Given the description of an element on the screen output the (x, y) to click on. 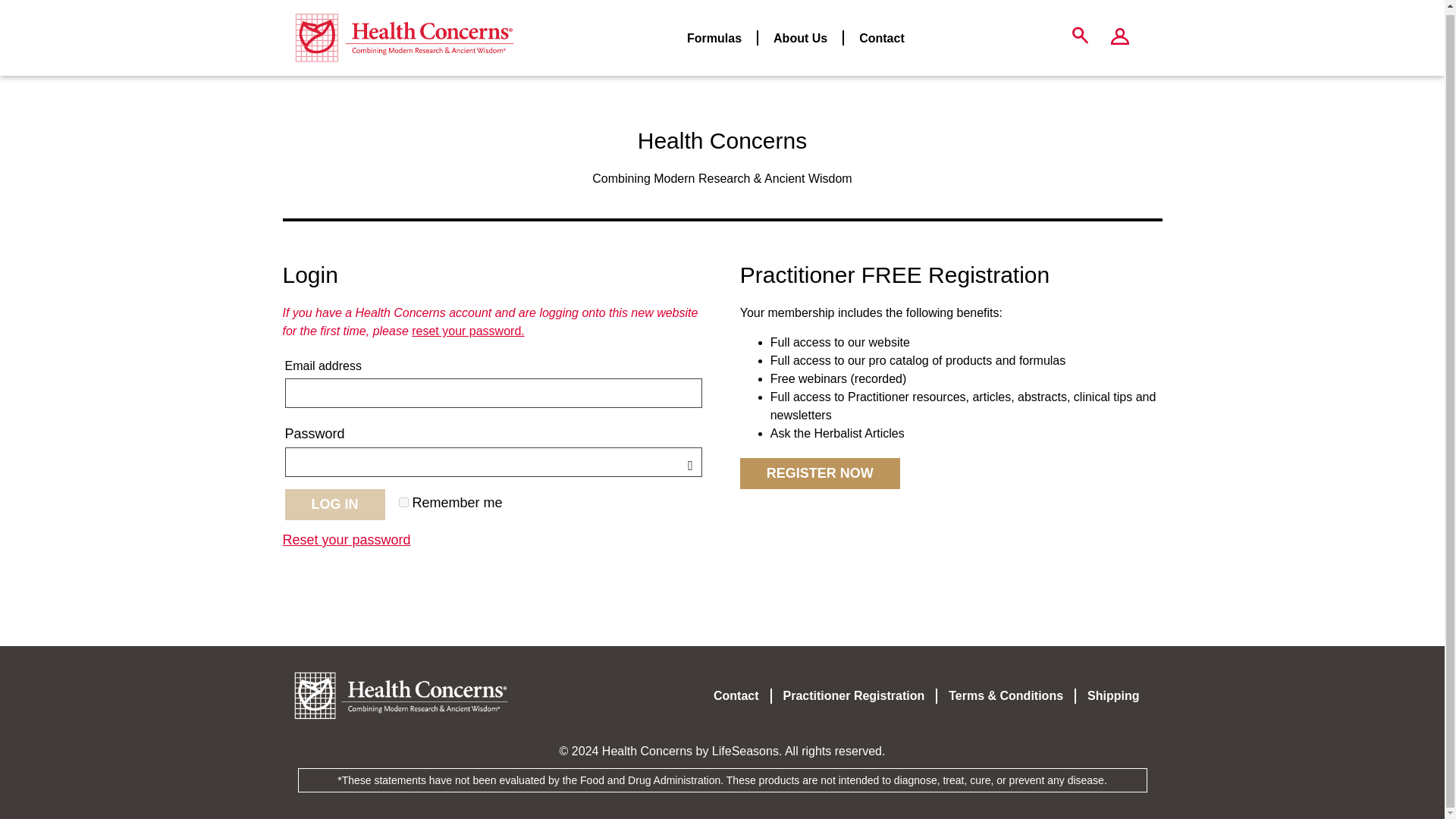
forever (403, 501)
Contact (882, 33)
Formulas (714, 33)
About Us (800, 33)
